Given the description of an element on the screen output the (x, y) to click on. 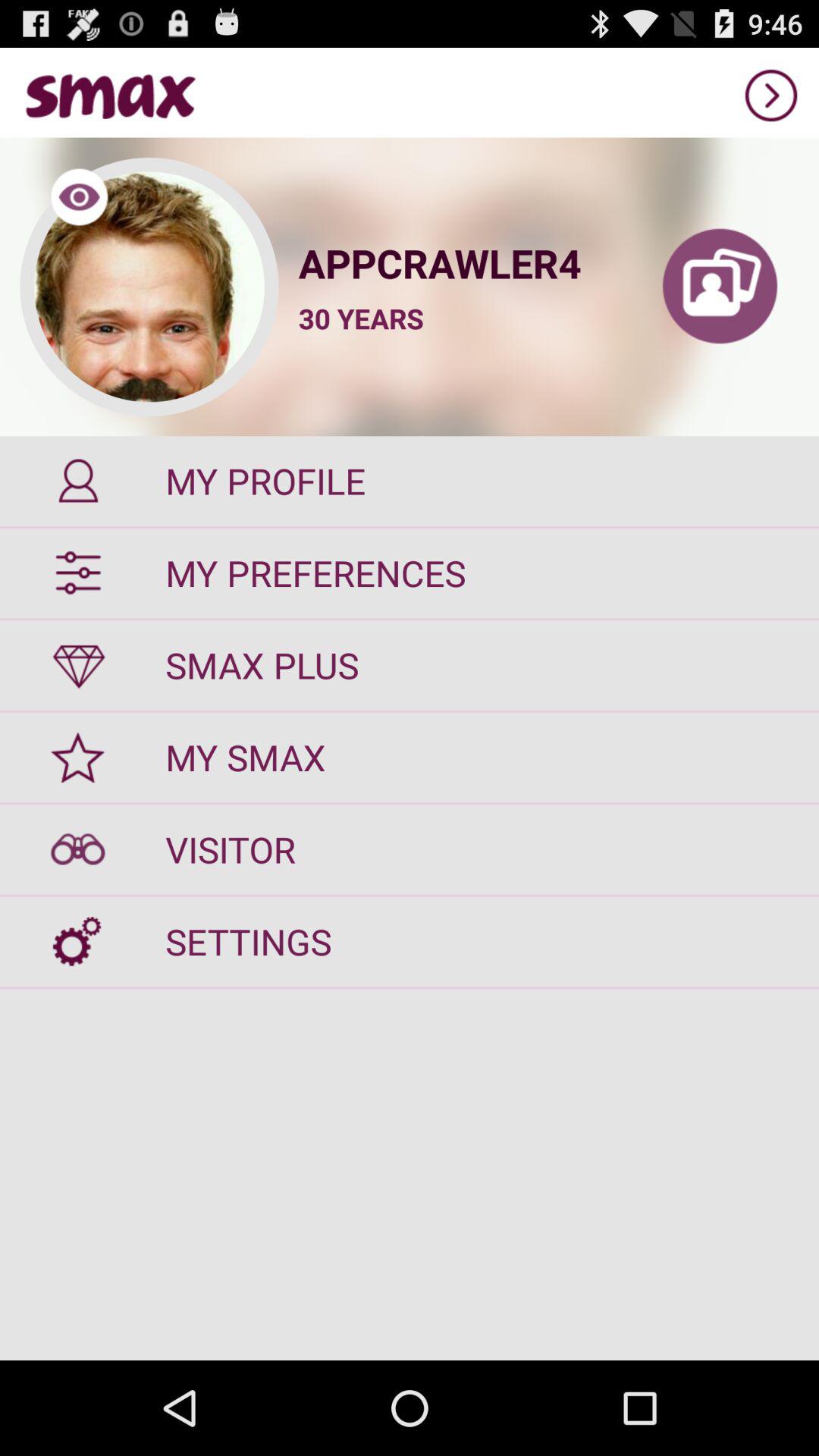
view profile picture (148, 286)
